Given the description of an element on the screen output the (x, y) to click on. 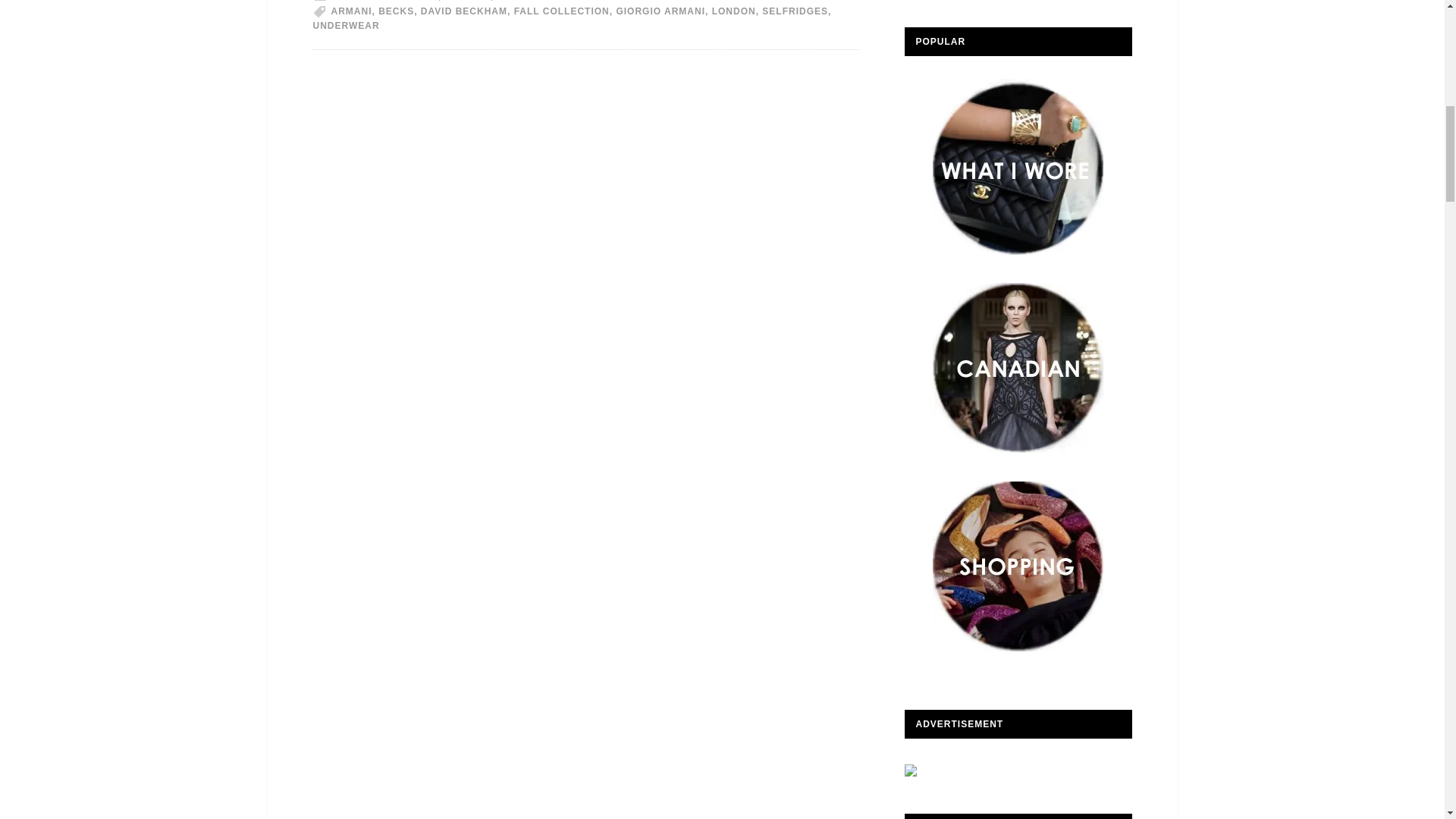
LONDON (733, 10)
FALL COLLECTION (561, 10)
GIORGIO ARMANI (659, 10)
BECKS (395, 10)
HOT MEN (520, 0)
ARMANI (350, 10)
DAVID BECKHAM (463, 10)
UNDERWEAR (345, 25)
SELFRIDGES (794, 10)
FASHION (467, 0)
CELEBRITY FASHION (384, 0)
